Given the description of an element on the screen output the (x, y) to click on. 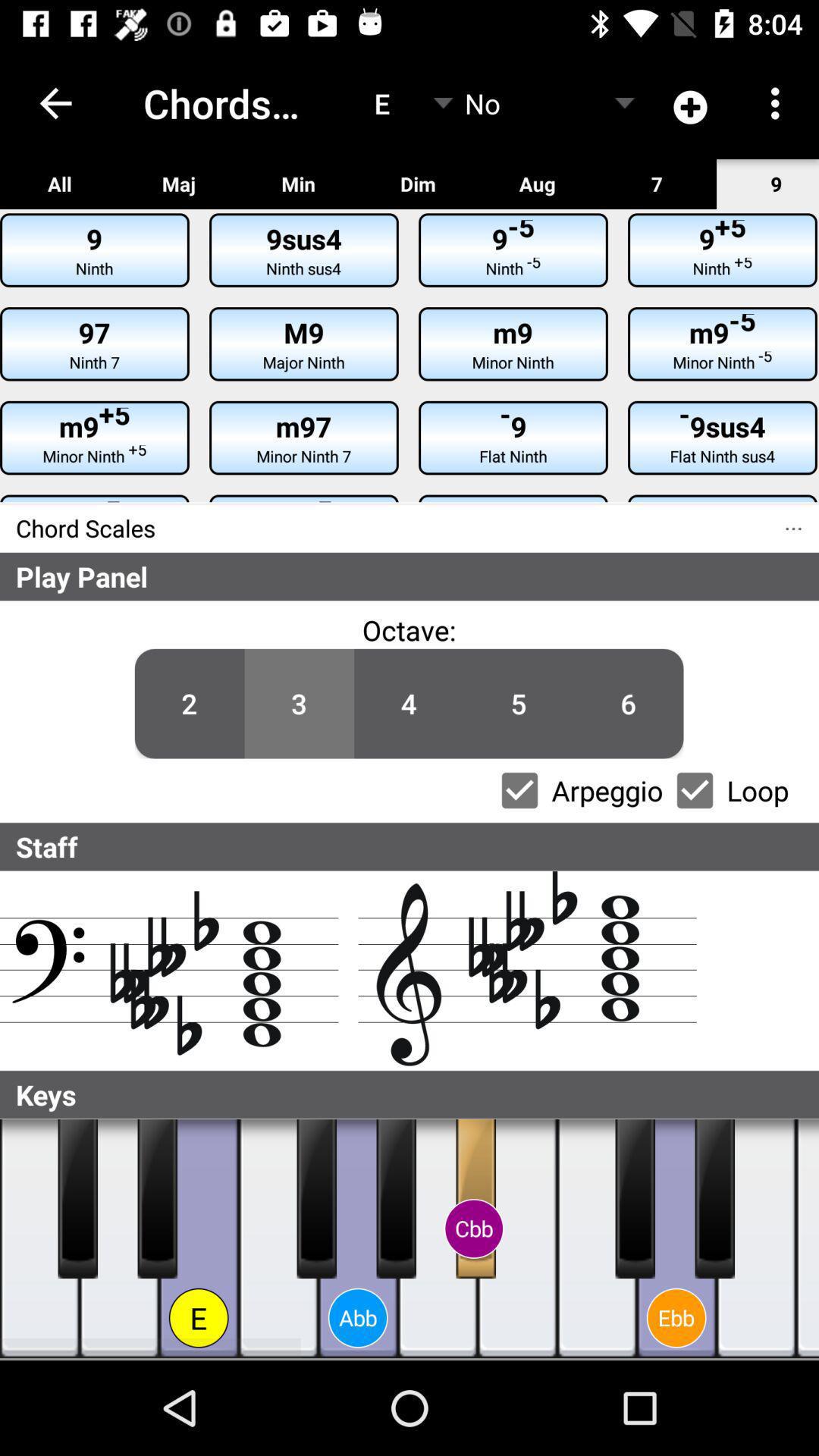
toggle looping track (694, 790)
